Given the description of an element on the screen output the (x, y) to click on. 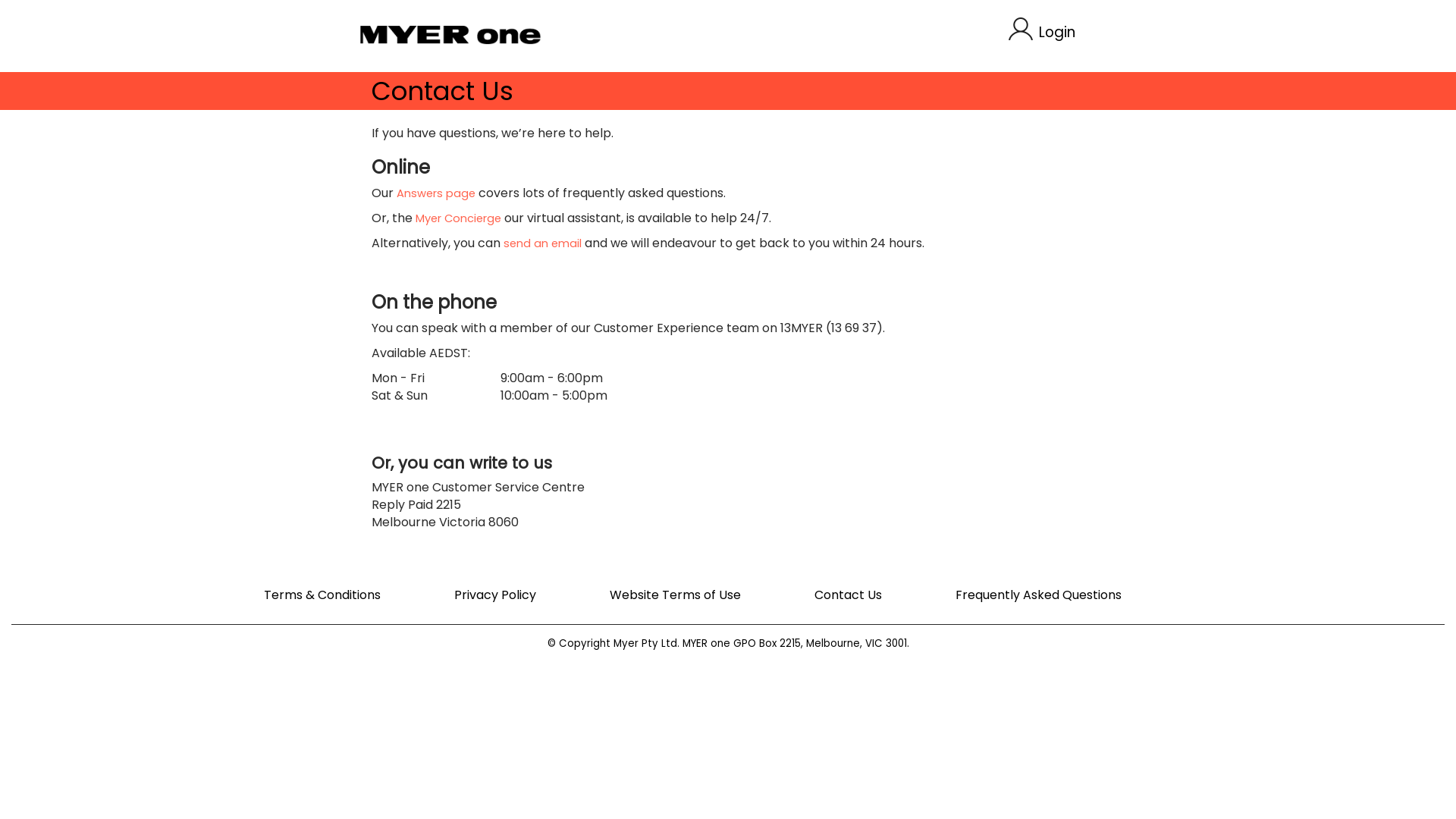
Myer Concierge Element type: text (458, 217)
Contact Us Element type: text (847, 594)
Privacy Policy Element type: text (495, 594)
Website Terms of Use Element type: text (674, 594)
 Login Element type: text (1041, 30)
Frequently Asked Questions Element type: text (1038, 594)
Terms & Conditions Element type: text (321, 594)
Answers page Element type: text (435, 192)
send an email Element type: text (542, 243)
